Given the description of an element on the screen output the (x, y) to click on. 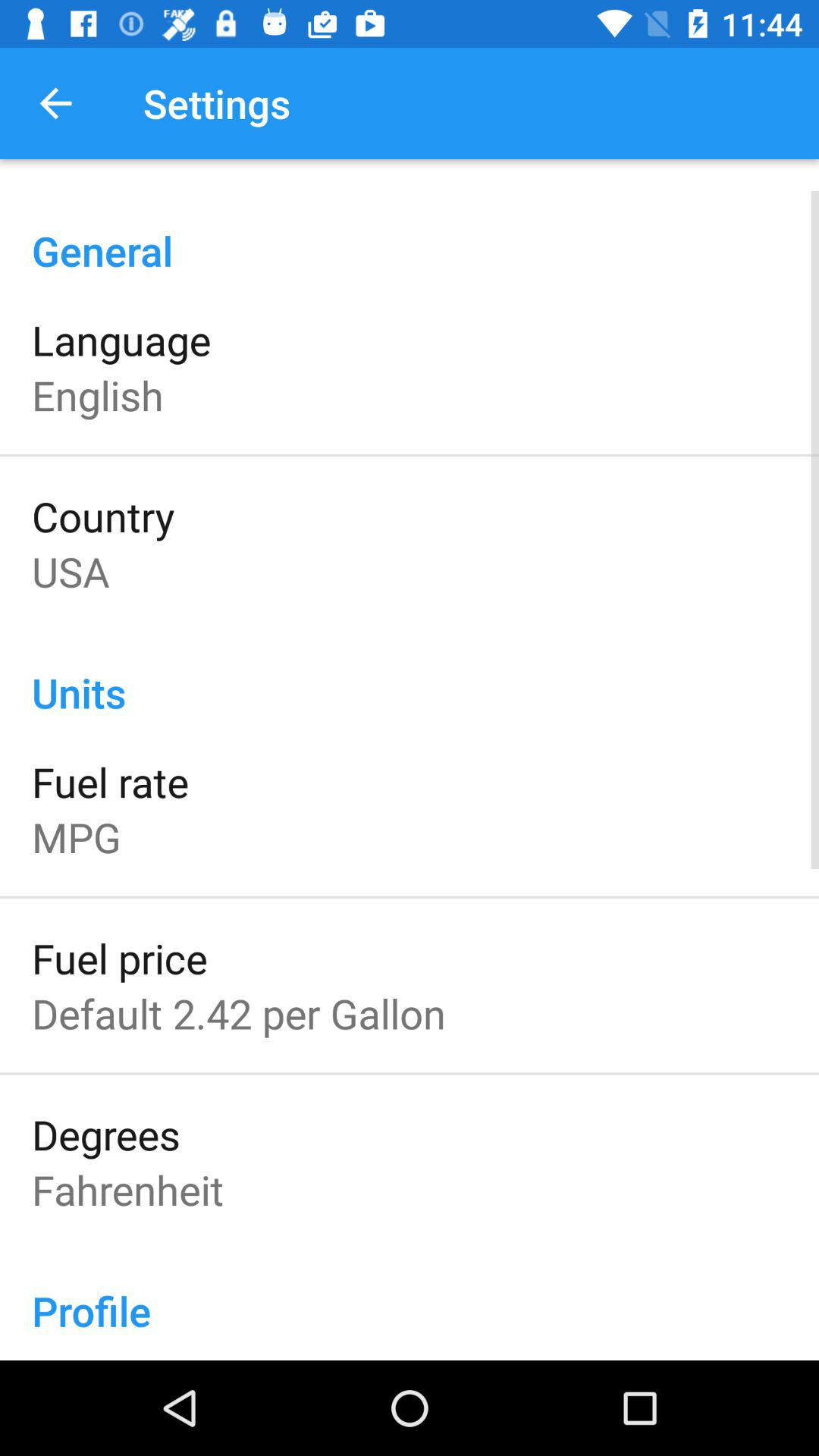
swipe to the fahrenheit (127, 1189)
